Given the description of an element on the screen output the (x, y) to click on. 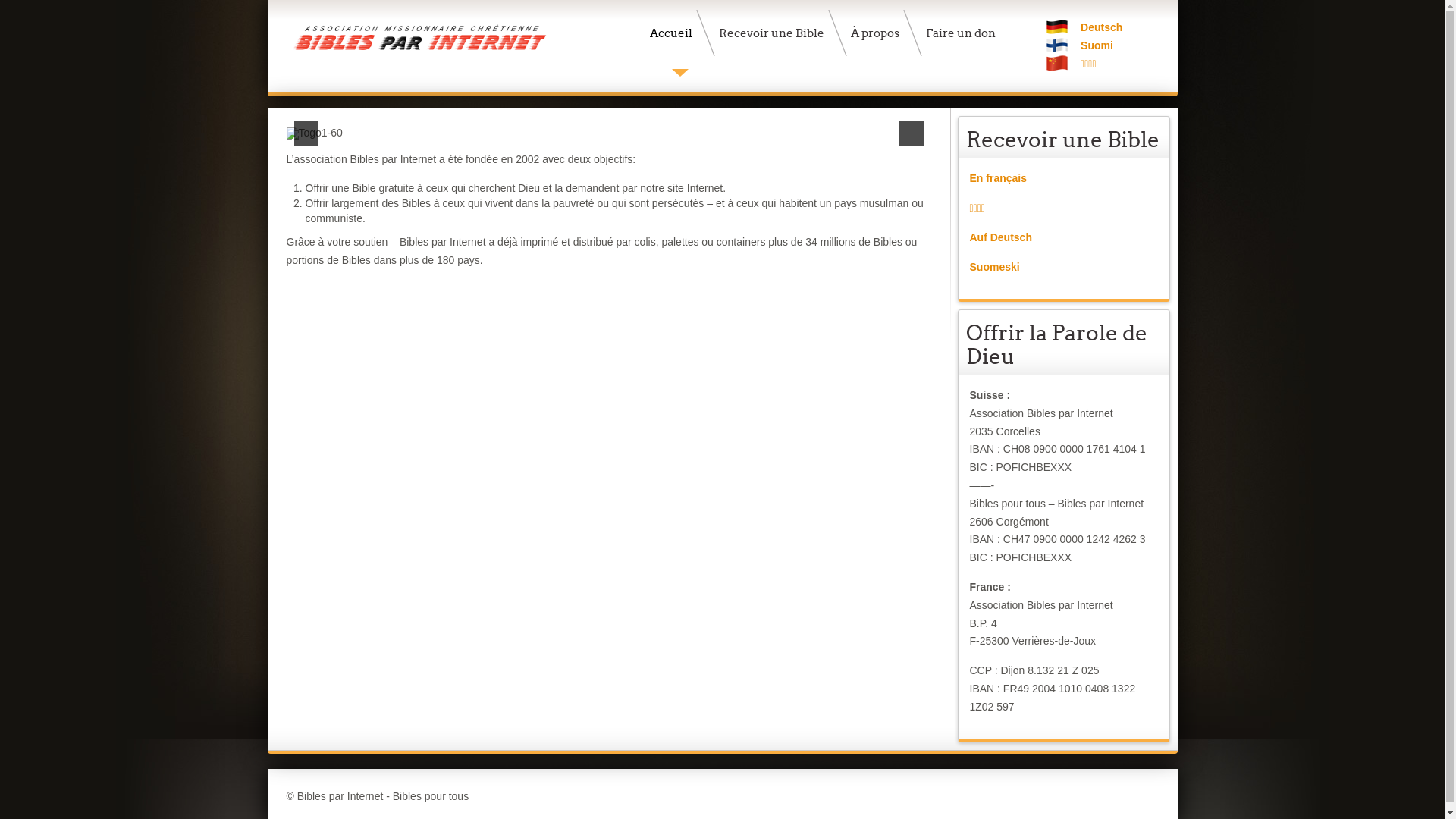
Faire un don Element type: text (964, 32)
Recevoir une Bible Element type: text (774, 32)
Accueil Element type: text (674, 32)
Suomeski Element type: text (994, 266)
Auf Deutsch Element type: text (1000, 237)
Deutsch Element type: text (1101, 27)
Suomi Element type: text (1096, 45)
